Given the description of an element on the screen output the (x, y) to click on. 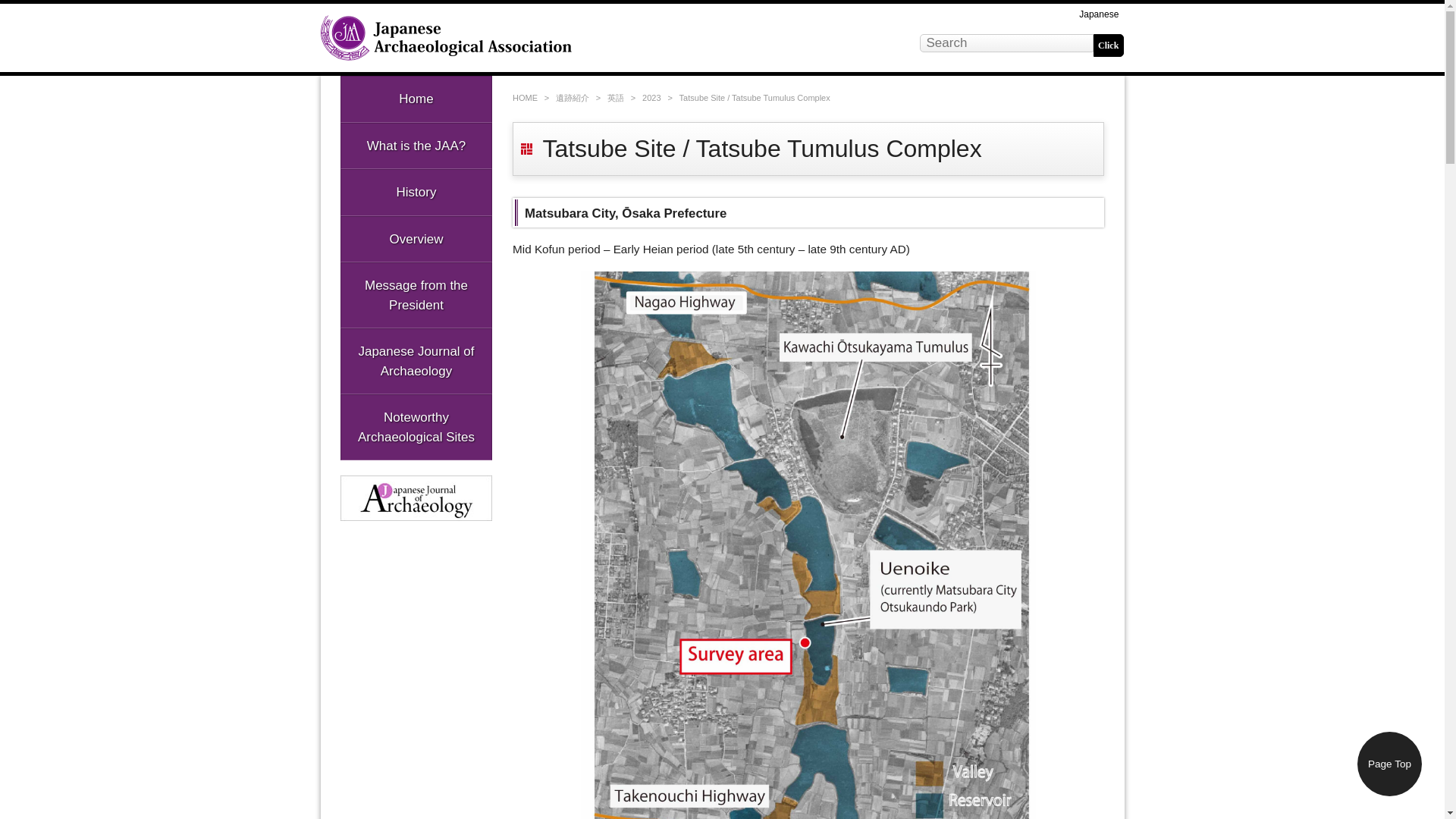
Search (1108, 45)
Message from the President (416, 295)
Home (416, 99)
Noteworthy Archaeological Sites (416, 426)
What is the JAA? (416, 145)
Page Top (1389, 764)
Japanese Journal of Archaeology (416, 360)
Overview (416, 238)
History (416, 192)
Japanese (1099, 14)
